Given the description of an element on the screen output the (x, y) to click on. 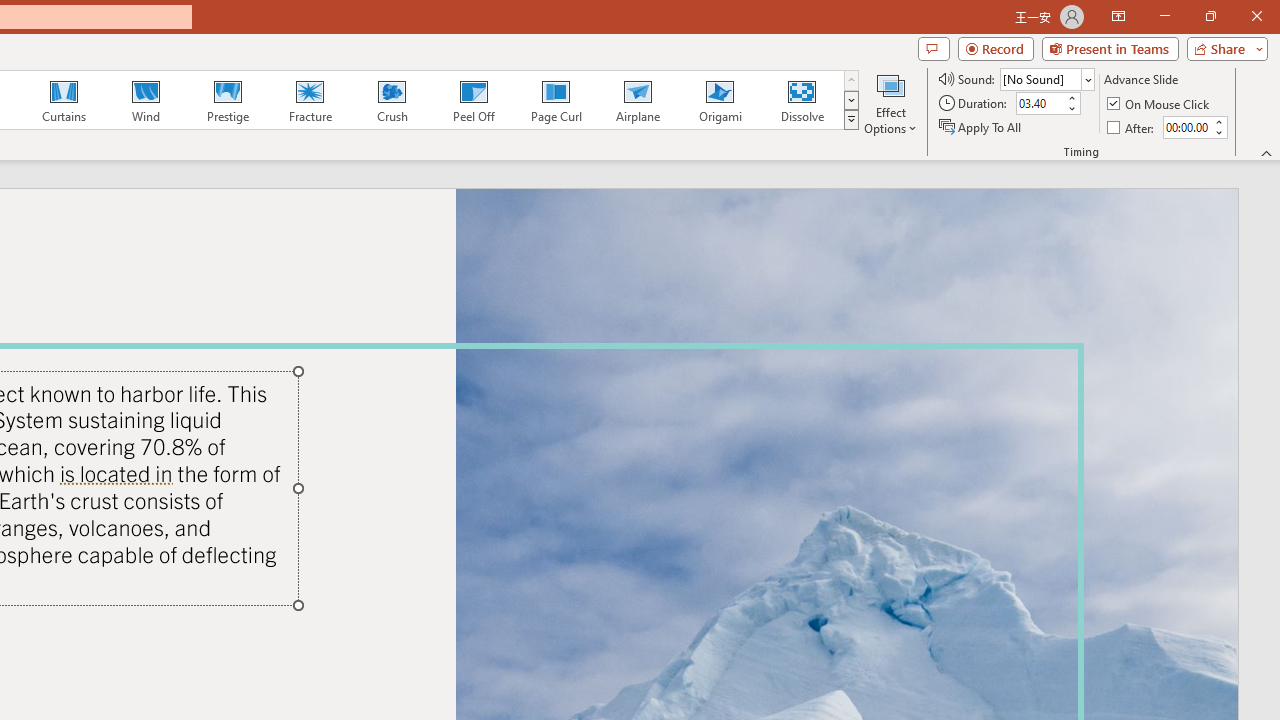
Airplane (637, 100)
Origami (719, 100)
After (1131, 126)
After (1186, 127)
Sound (1046, 78)
Apply To All (981, 126)
Page Curl (555, 100)
Wind (145, 100)
